Given the description of an element on the screen output the (x, y) to click on. 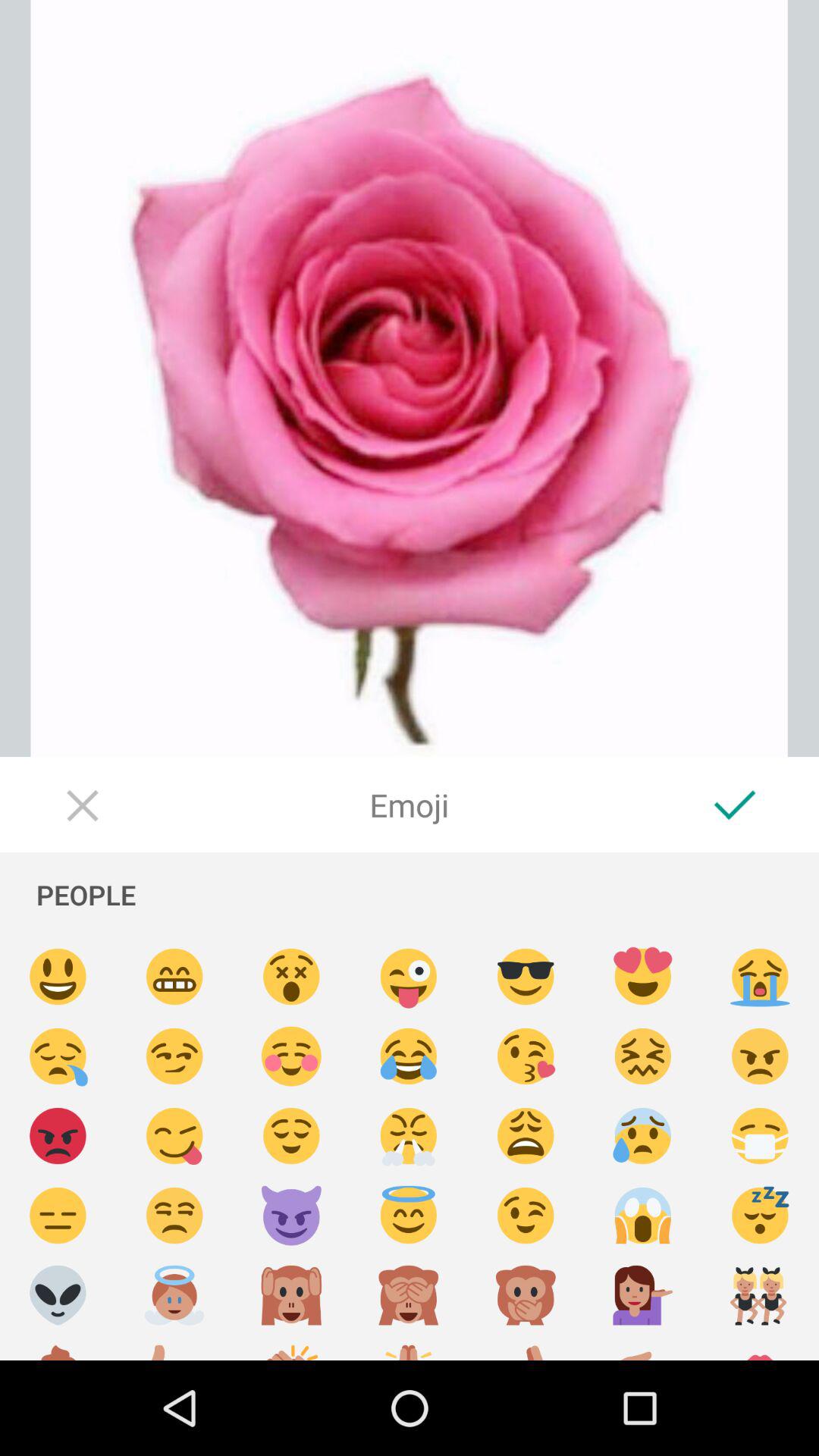
expressionless emoji (58, 1215)
